Given the description of an element on the screen output the (x, y) to click on. 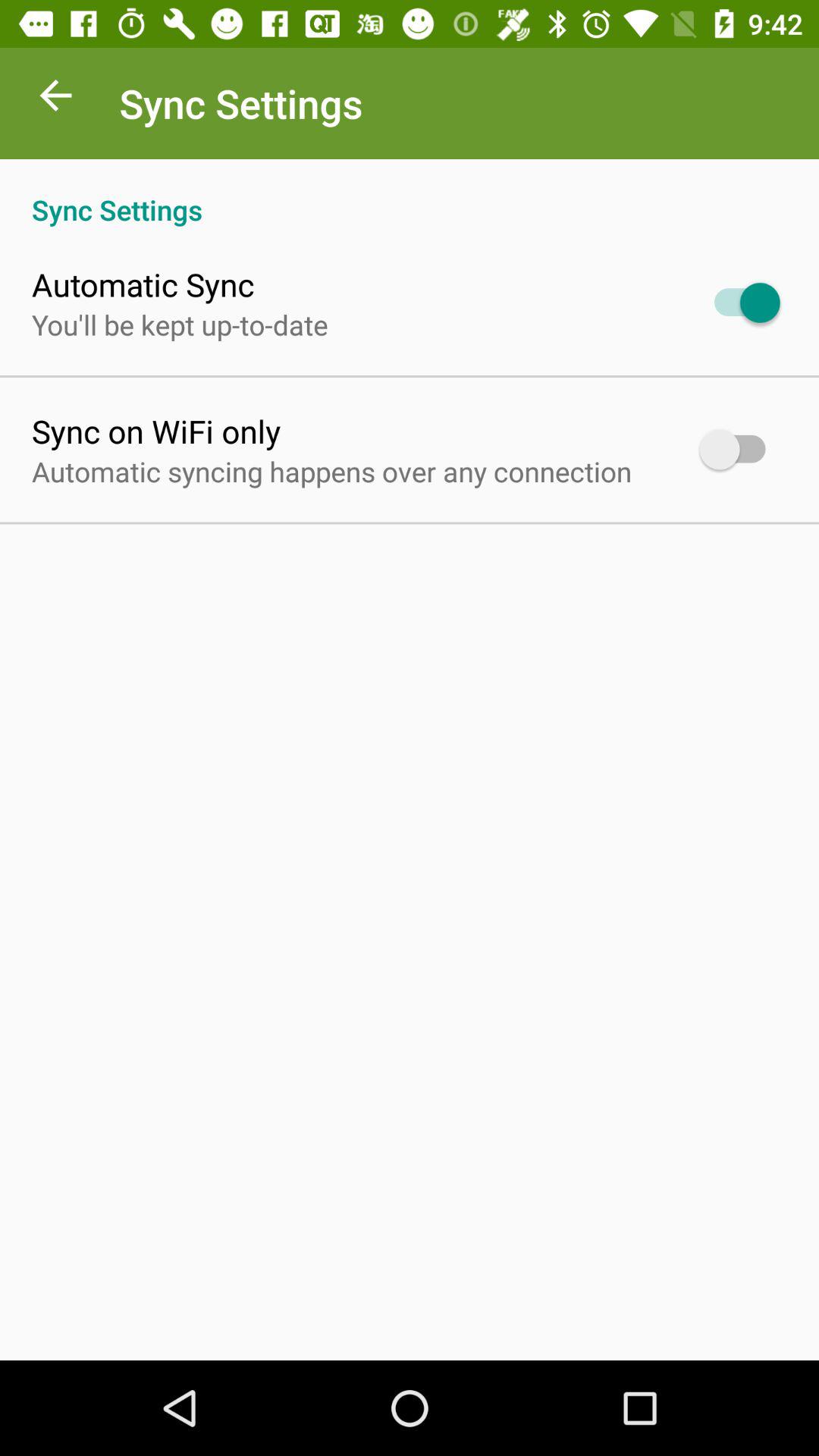
select the item above the you ll be app (142, 283)
